Given the description of an element on the screen output the (x, y) to click on. 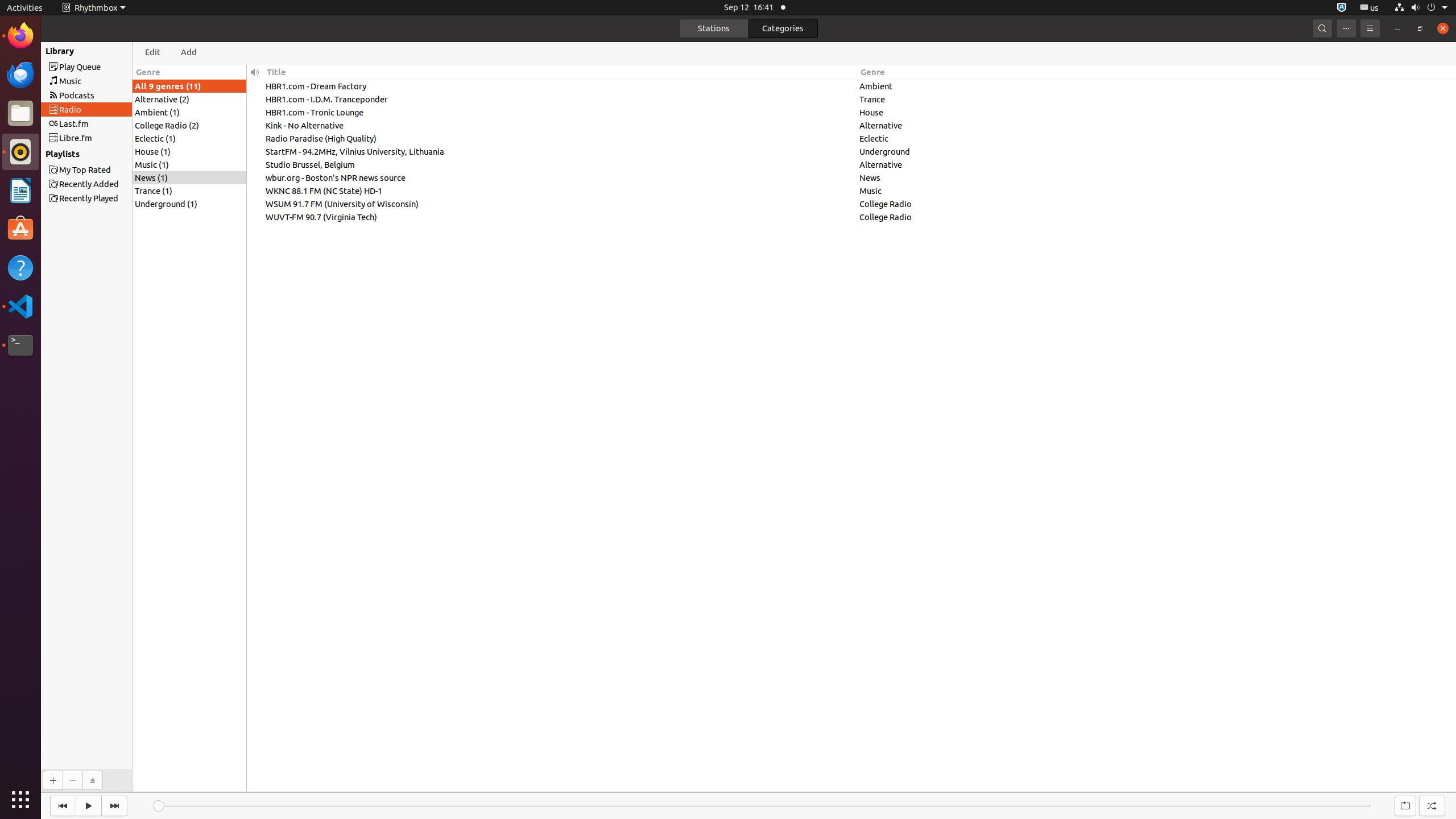
HBR1.com - Dream Factory Element type: table-cell (559, 86)
Edit Element type: toggle-button (152, 51)
News Element type: table-cell (1156, 177)
House Element type: table-cell (1156, 112)
